Given the description of an element on the screen output the (x, y) to click on. 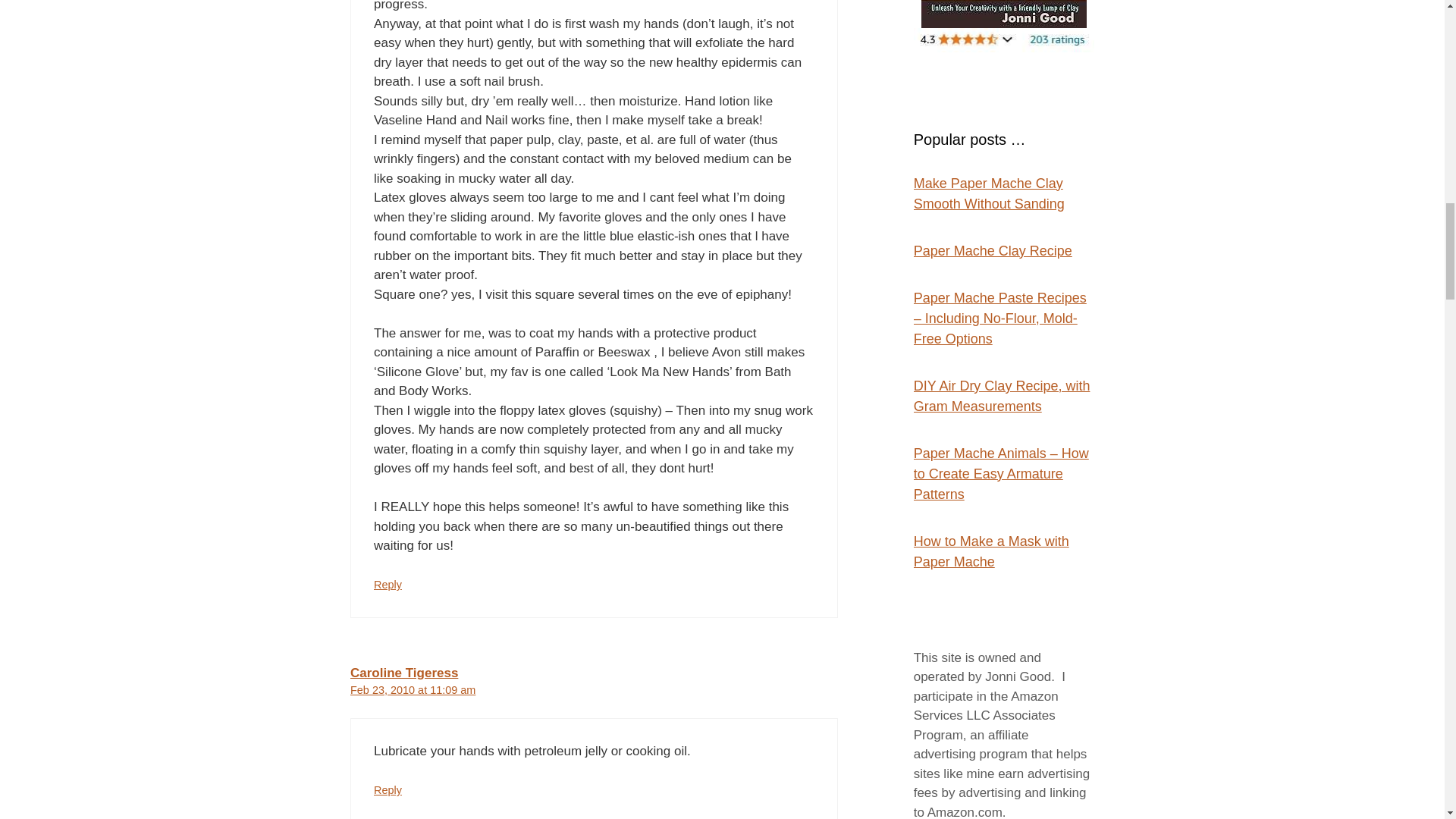
Reply (387, 789)
Feb 23, 2010 at 11:09 am (413, 689)
Reply (387, 584)
Caroline Tigeress (404, 672)
